Given the description of an element on the screen output the (x, y) to click on. 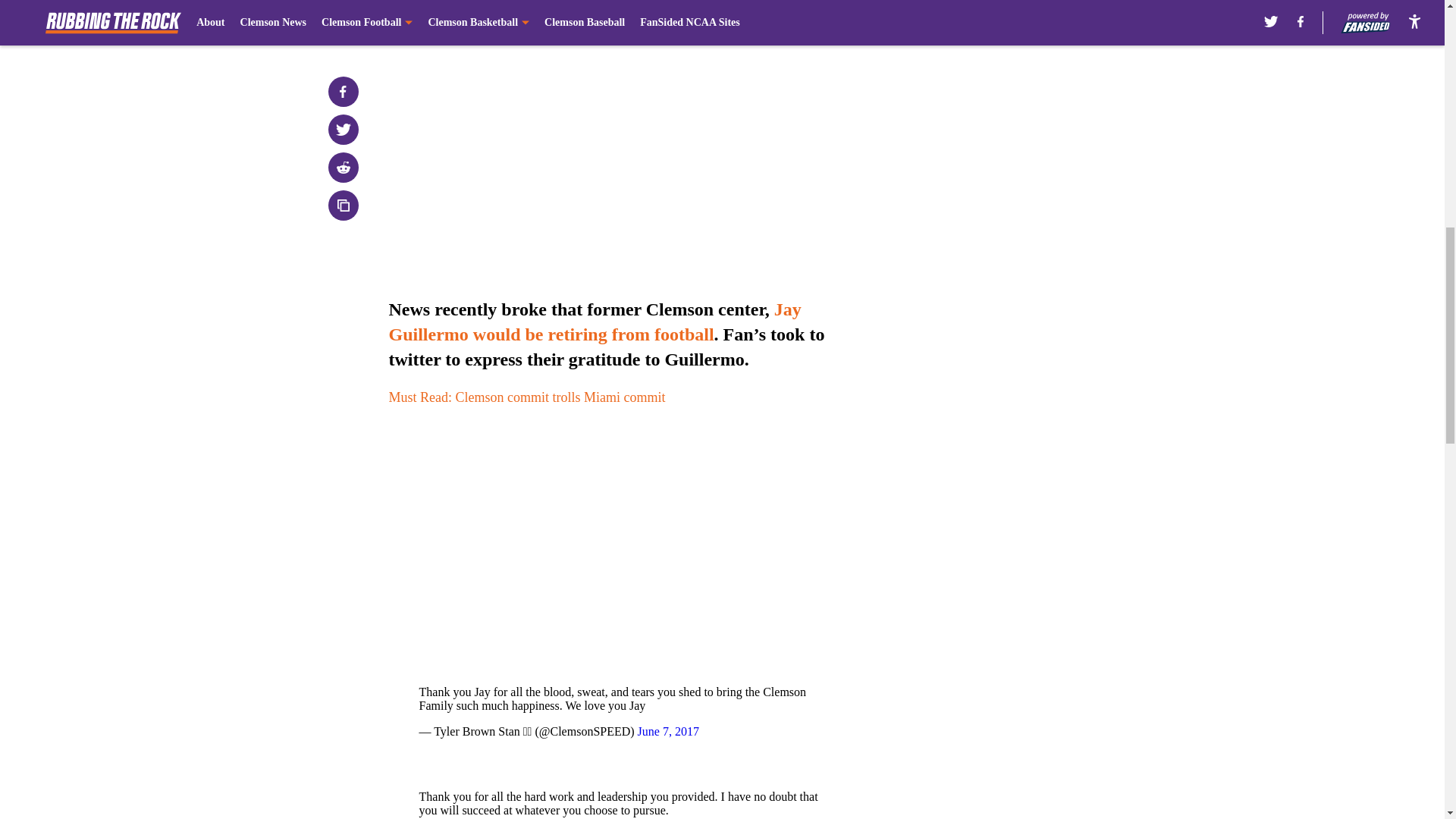
Jay Guillermo would be retiring from football (594, 321)
Must Read: Clemson commit trolls Miami commit (526, 396)
June 7, 2017 (667, 730)
